Given the description of an element on the screen output the (x, y) to click on. 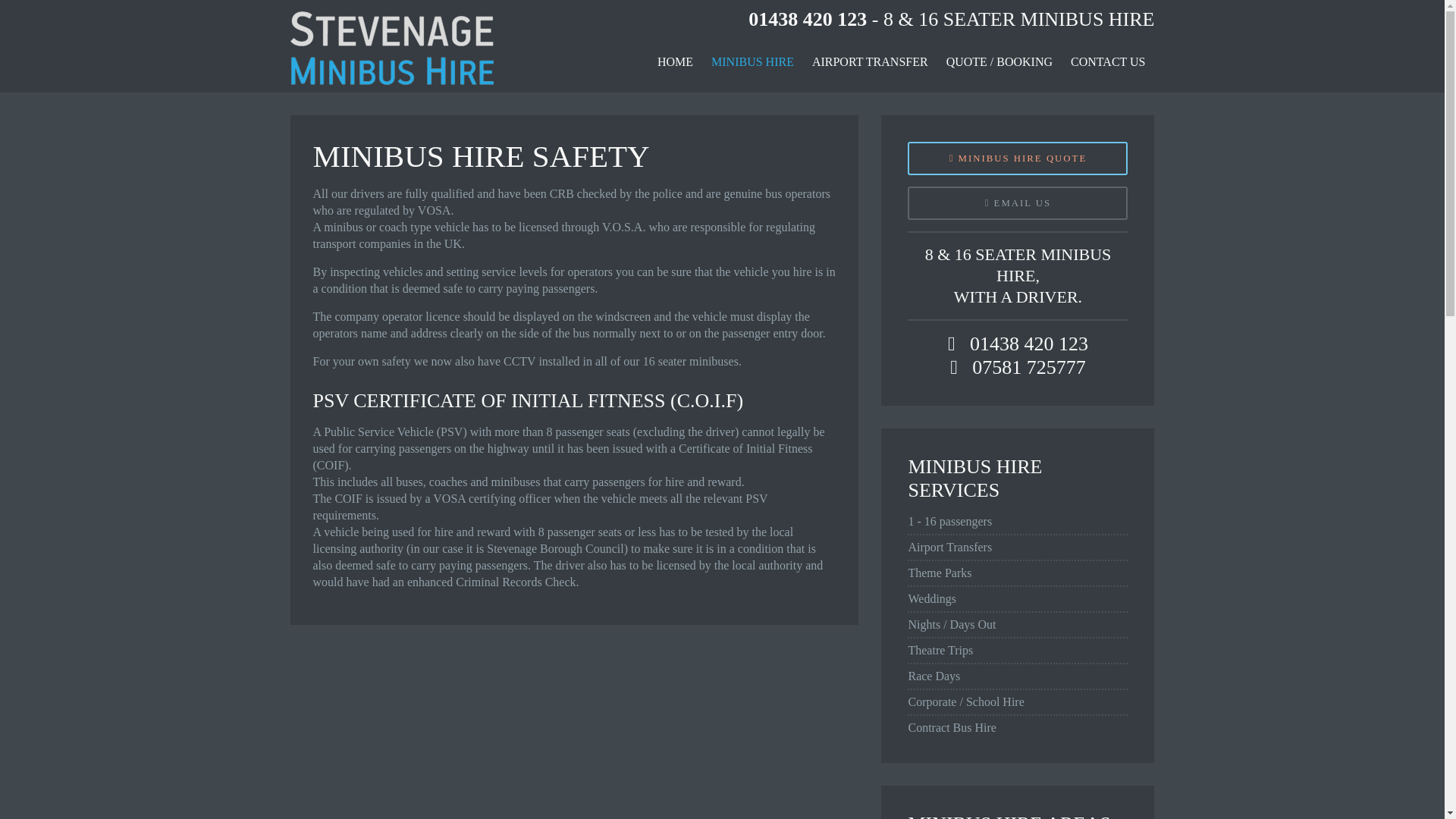
AIRPORT TRANSFER (870, 61)
MINIBUS HIRE QUOTE (1016, 158)
Minibus Hire Quote (1016, 203)
Minibus Hire Quote (1016, 158)
MINIBUS HIRE (752, 61)
EMAIL US (1016, 203)
CONTACT US (1107, 61)
